Given the description of an element on the screen output the (x, y) to click on. 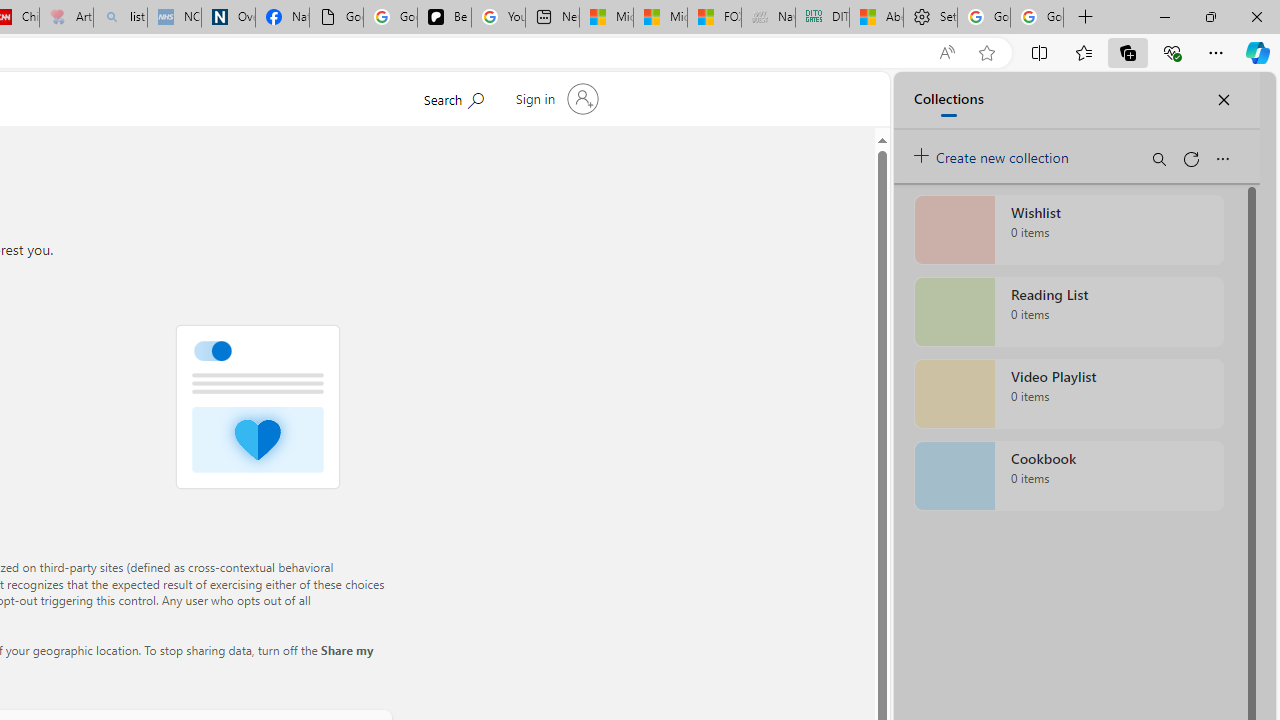
Search Microsoft.com (452, 97)
DITOGAMES AG Imprint (822, 17)
Aberdeen, Hong Kong SAR hourly forecast | Microsoft Weather (875, 17)
NCL Adult Asthma Inhaler Choice Guideline - Sleeping (174, 17)
